Given the description of an element on the screen output the (x, y) to click on. 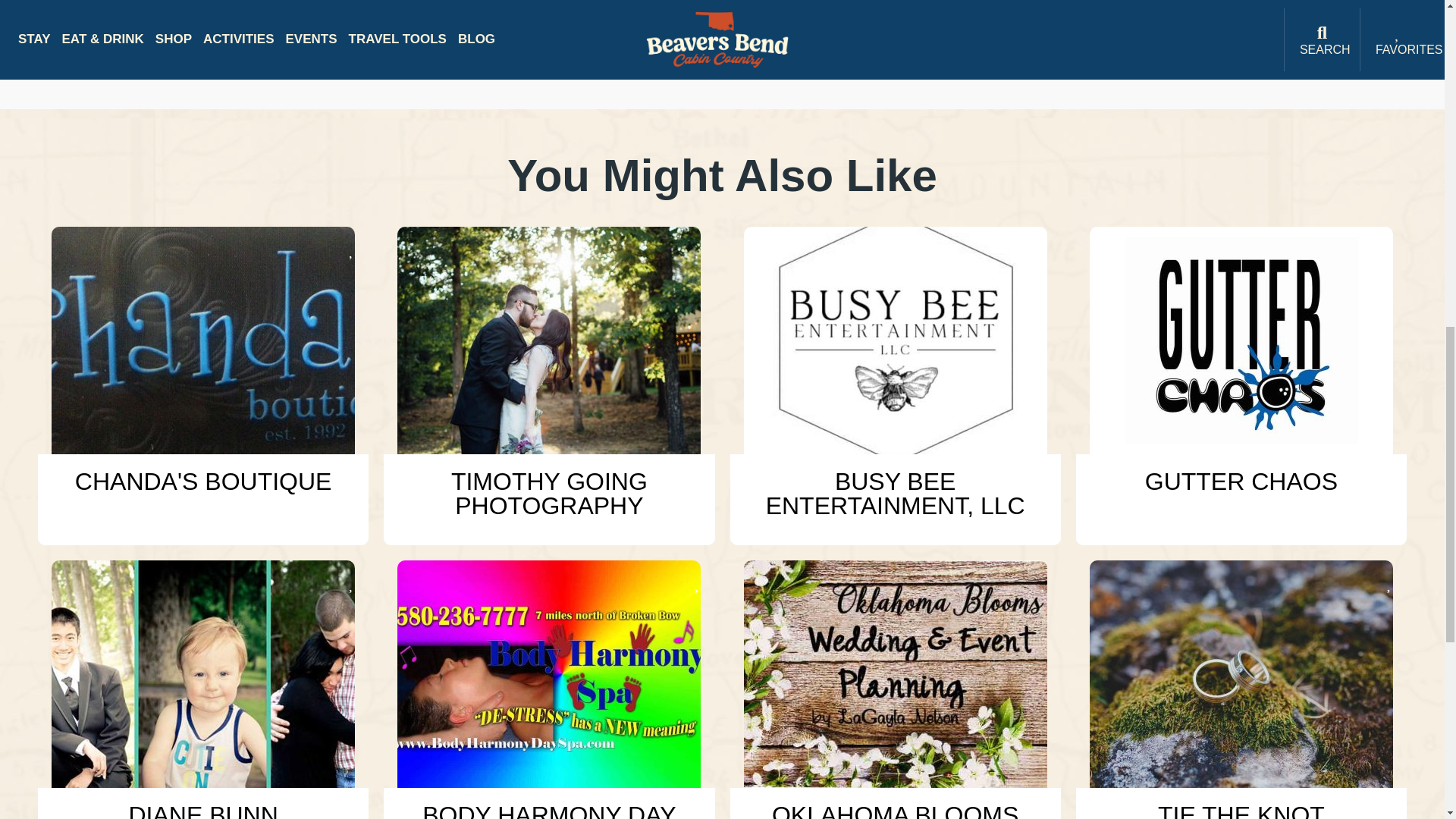
Hochatown-Ad-2018 (895, 673)
wedding-rings-moss (1241, 673)
Busy Bee (895, 340)
dianebunn-1 (202, 673)
1-29-16-NEW-Billboard-Emailing-FLAT (548, 673)
